Given the description of an element on the screen output the (x, y) to click on. 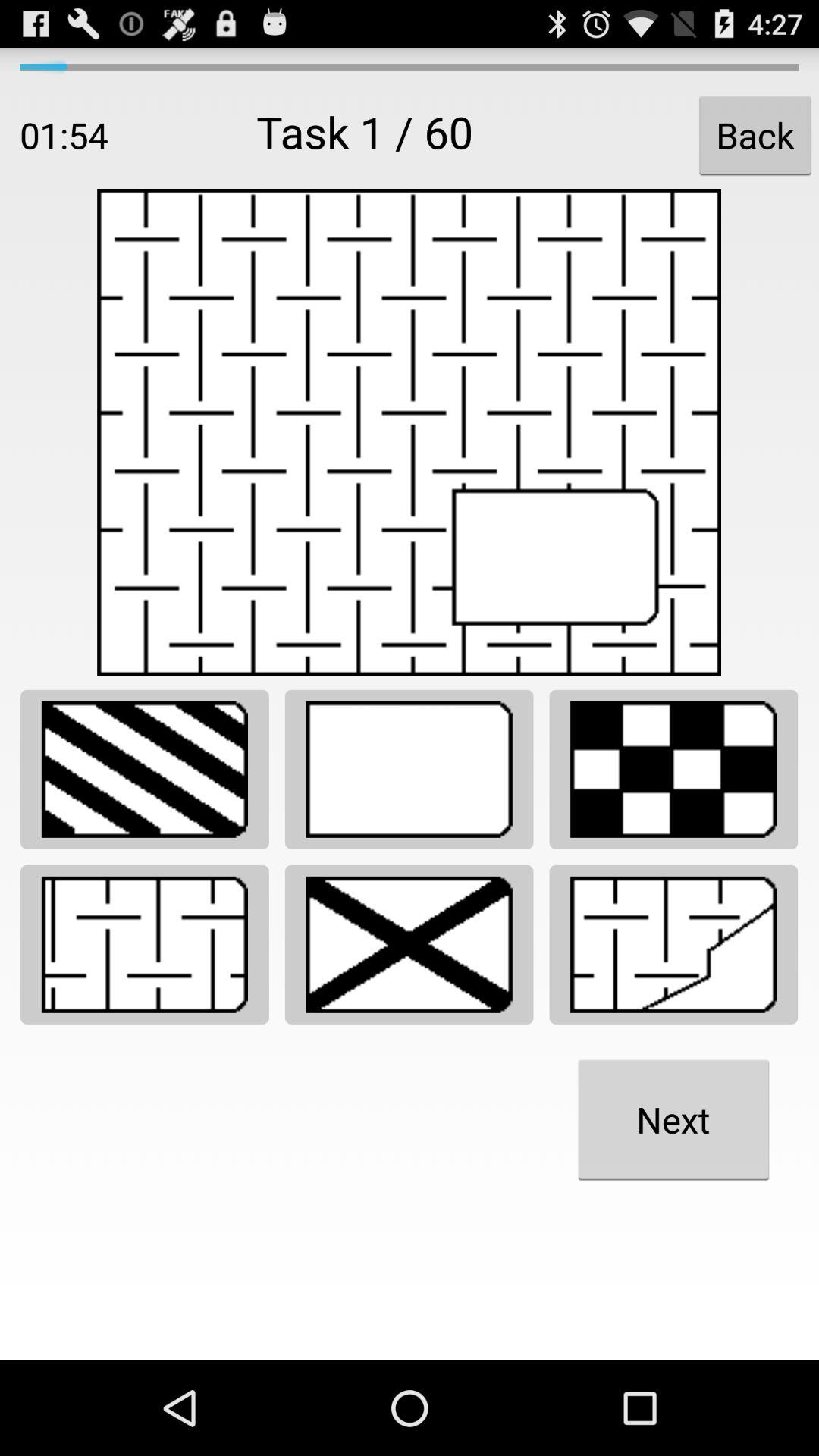
select this option (673, 769)
